Given the description of an element on the screen output the (x, y) to click on. 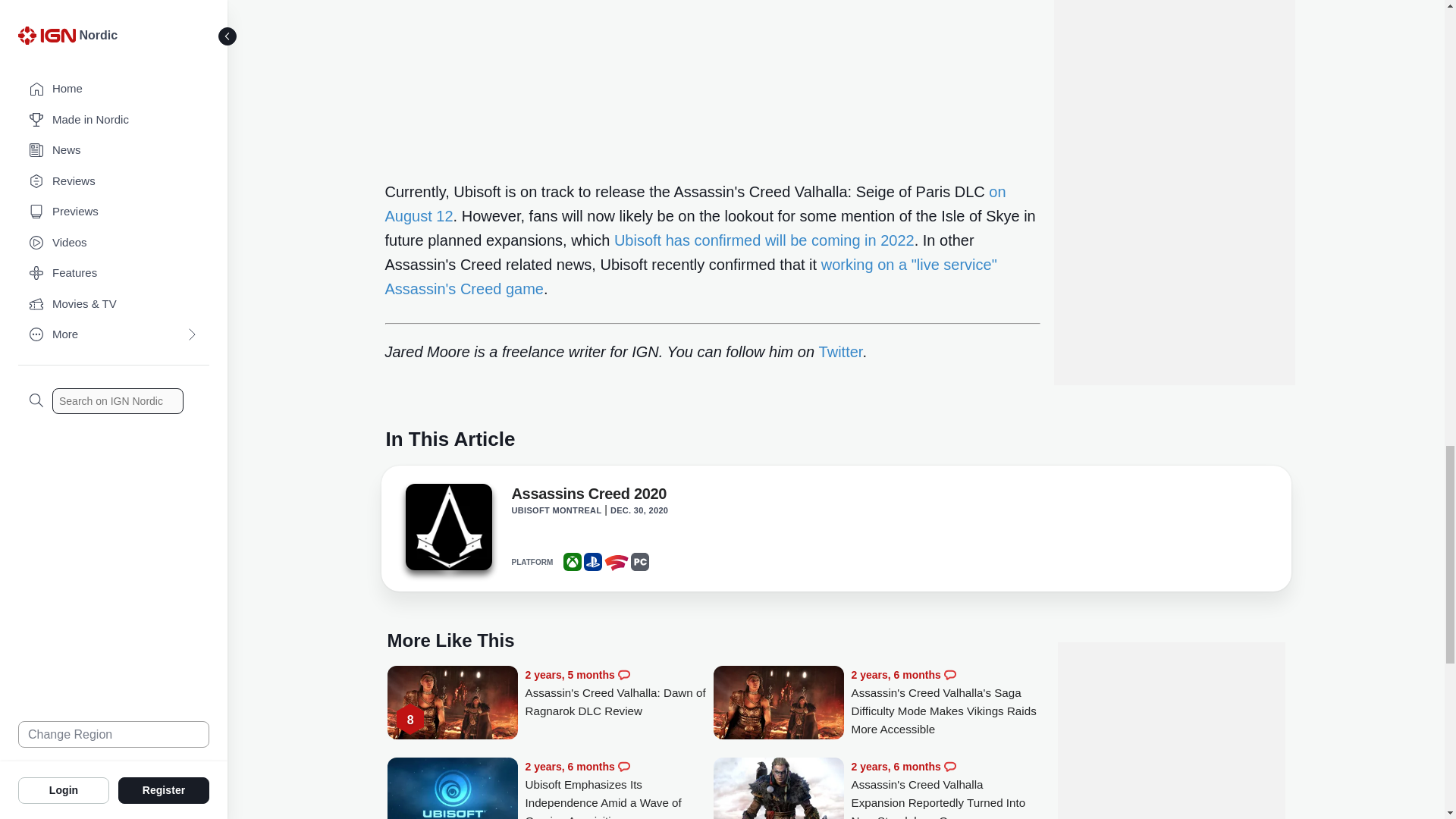
Assassins Creed 2020 (448, 531)
PC (639, 561)
Assassins Creed 2020 (448, 527)
XBOXONE (571, 561)
Assassins Creed 2020 (588, 496)
